Given the description of an element on the screen output the (x, y) to click on. 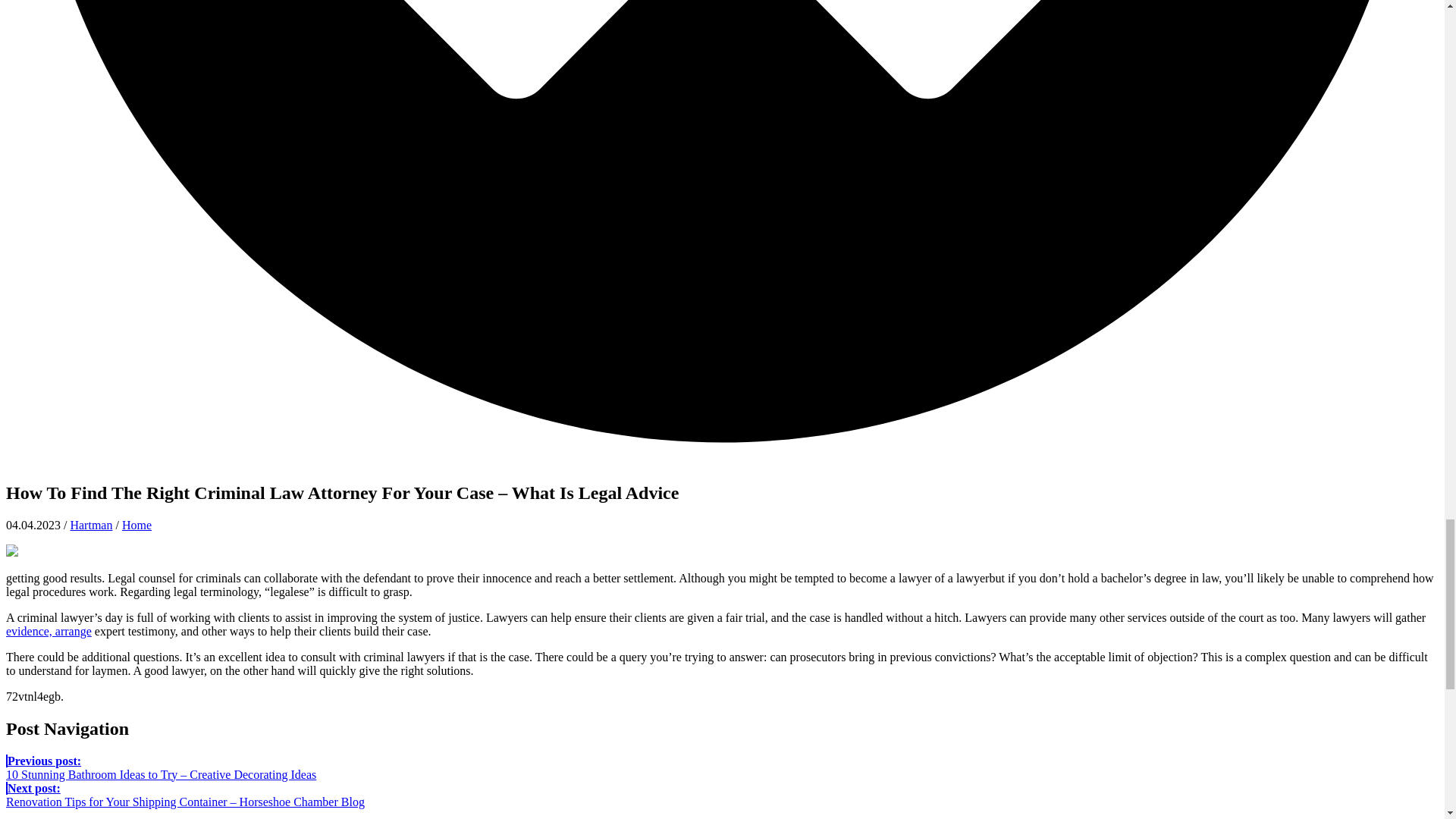
Hartman (90, 524)
evidence, arrange (48, 631)
Home (136, 524)
Posts by Hartman (90, 524)
